Given the description of an element on the screen output the (x, y) to click on. 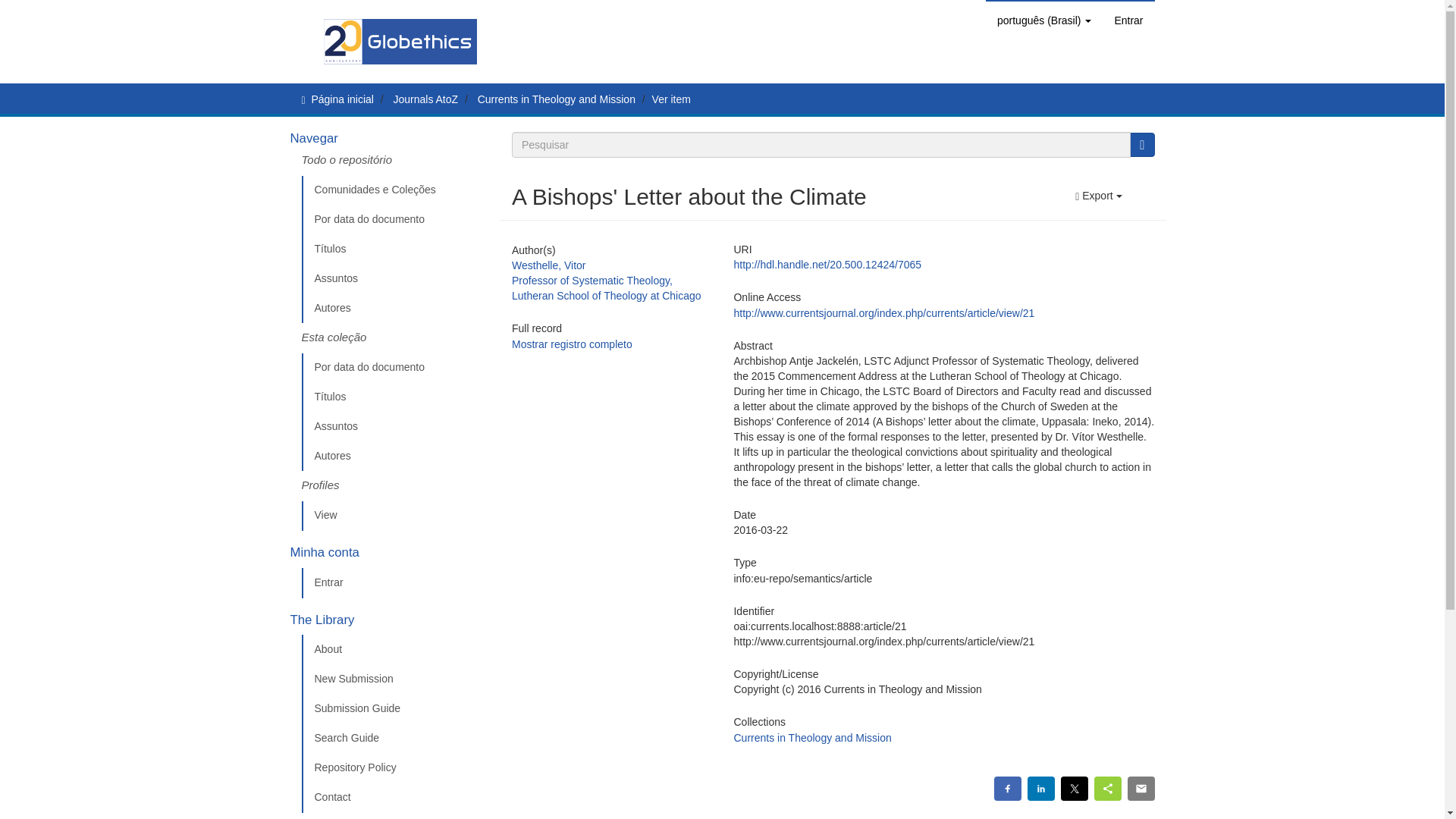
Journals AtoZ (425, 99)
Assuntos (395, 278)
Por data do documento (395, 219)
Ir (1141, 144)
Autores (395, 308)
Entrar (1128, 19)
Currents in Theology and Mission (555, 99)
